Given the description of an element on the screen output the (x, y) to click on. 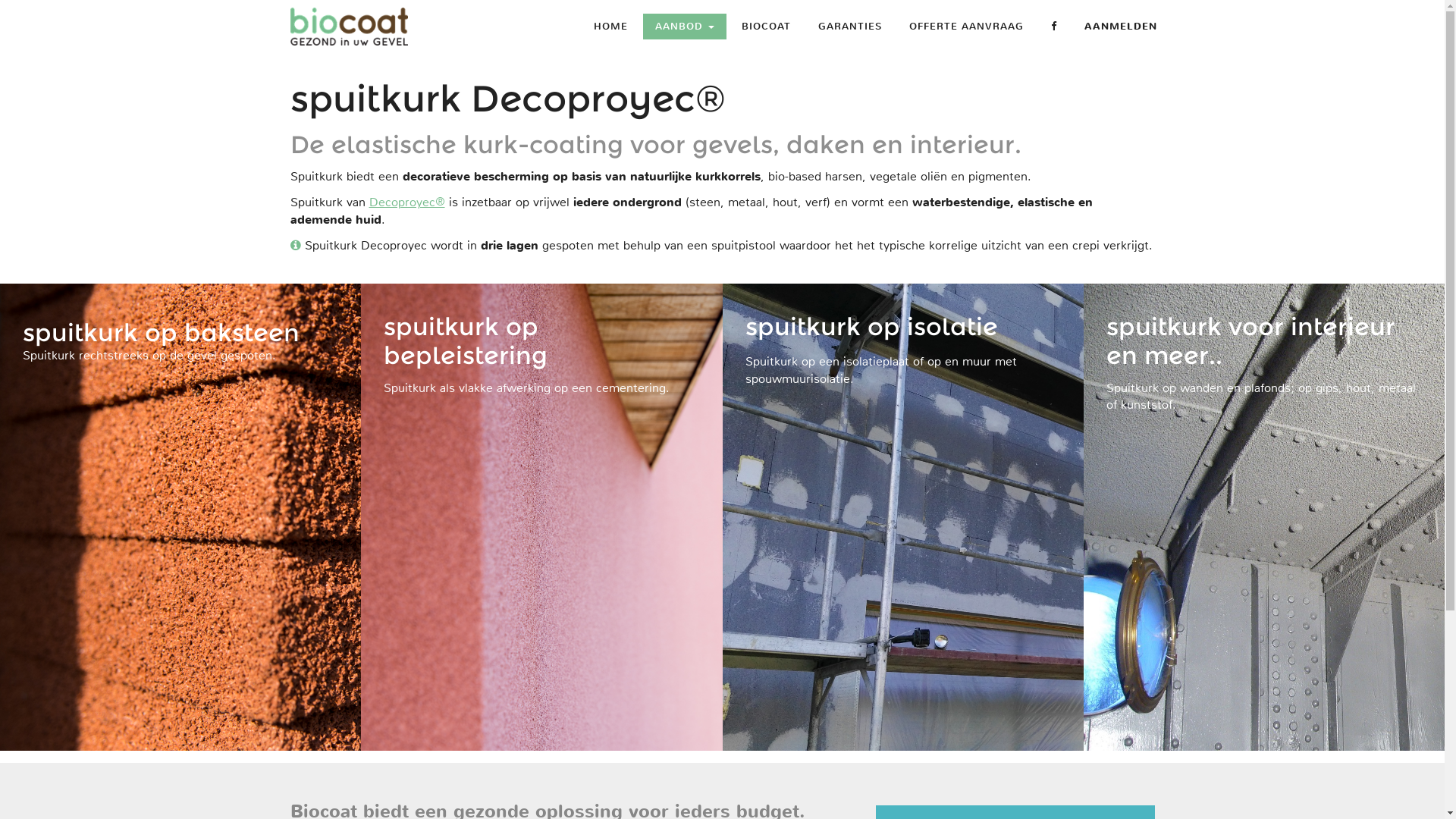
AANMELDEN Element type: text (1120, 26)
MJ Projects b.v. Element type: hover (348, 26)
AANBOD Element type: text (684, 26)
BIOCOAT Element type: text (766, 26)
GARANTIES Element type: text (849, 26)
HOME Element type: text (609, 26)
OFFERTE AANVRAAG Element type: text (965, 26)
